Given the description of an element on the screen output the (x, y) to click on. 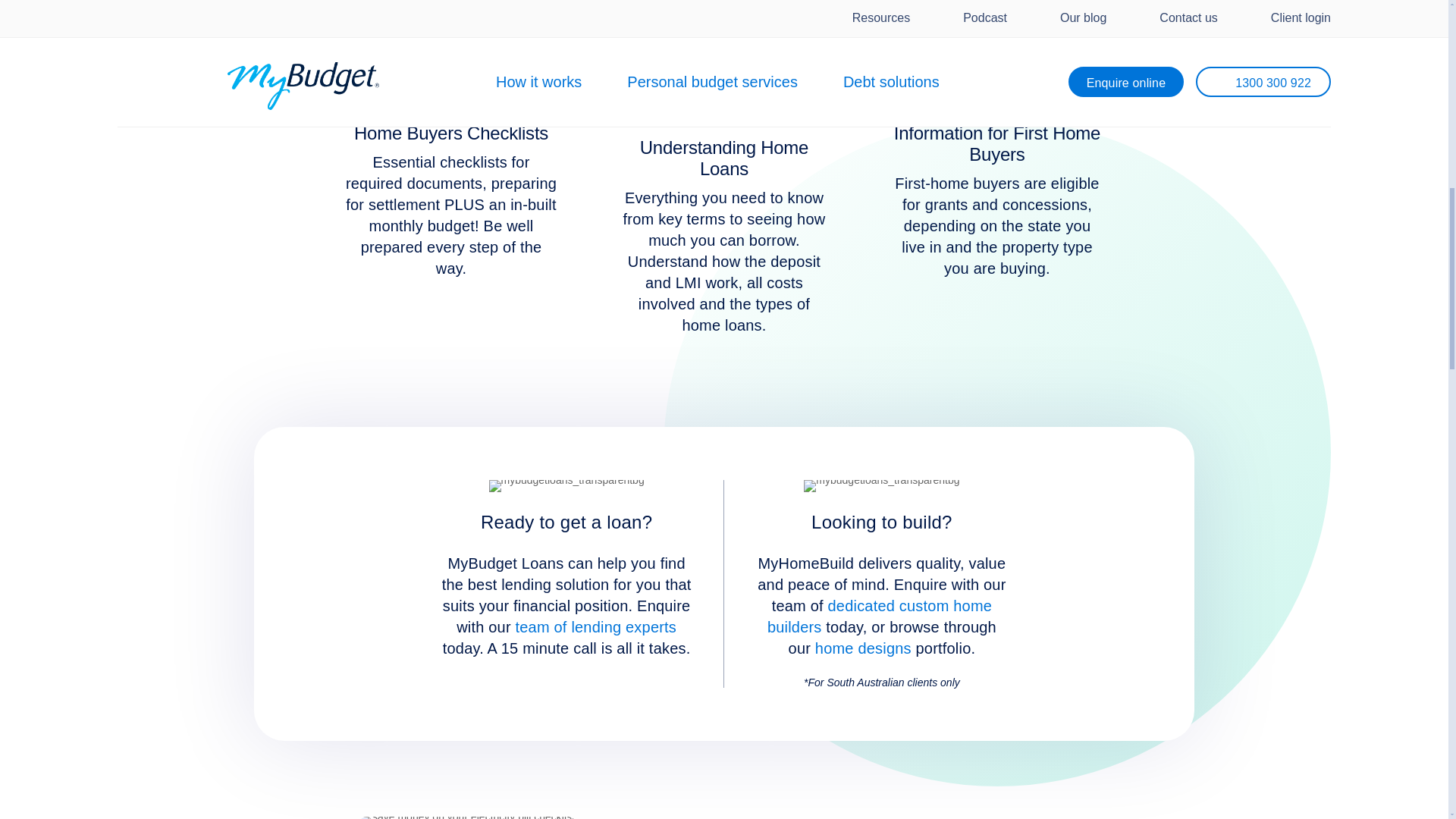
MyHomeBuild (881, 485)
dedicated custom home builders (879, 616)
home designs (863, 647)
team of lending experts (596, 627)
